Given the description of an element on the screen output the (x, y) to click on. 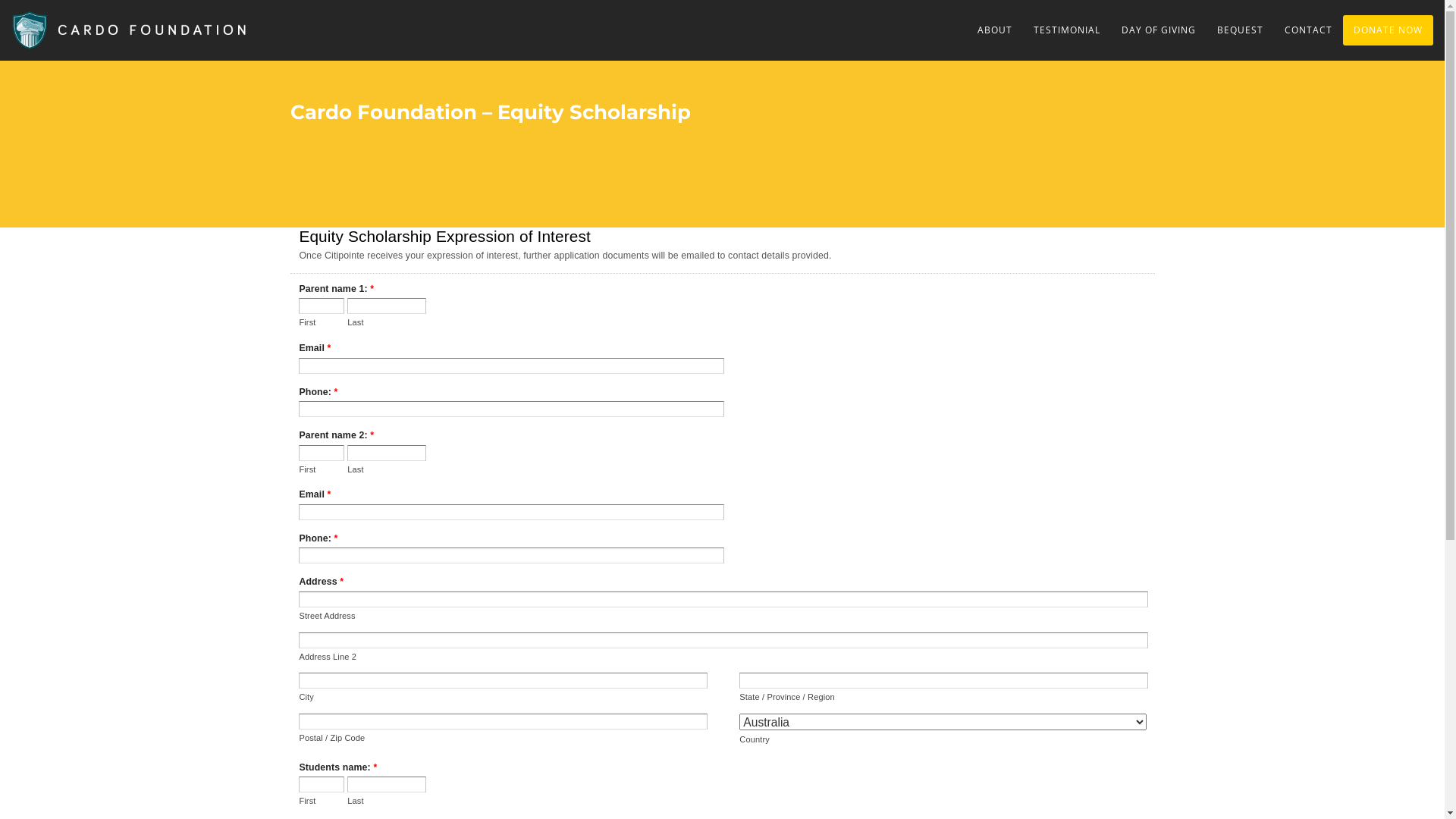
BEQUEST Element type: text (1240, 30)
Cardo Foundation Element type: hover (137, 18)
DONATE NOW Element type: text (1388, 30)
ABOUT Element type: text (994, 30)
DAY OF GIVING Element type: text (1158, 30)
CONTACT Element type: text (1308, 30)
TESTIMONIAL Element type: text (1066, 30)
